Given the description of an element on the screen output the (x, y) to click on. 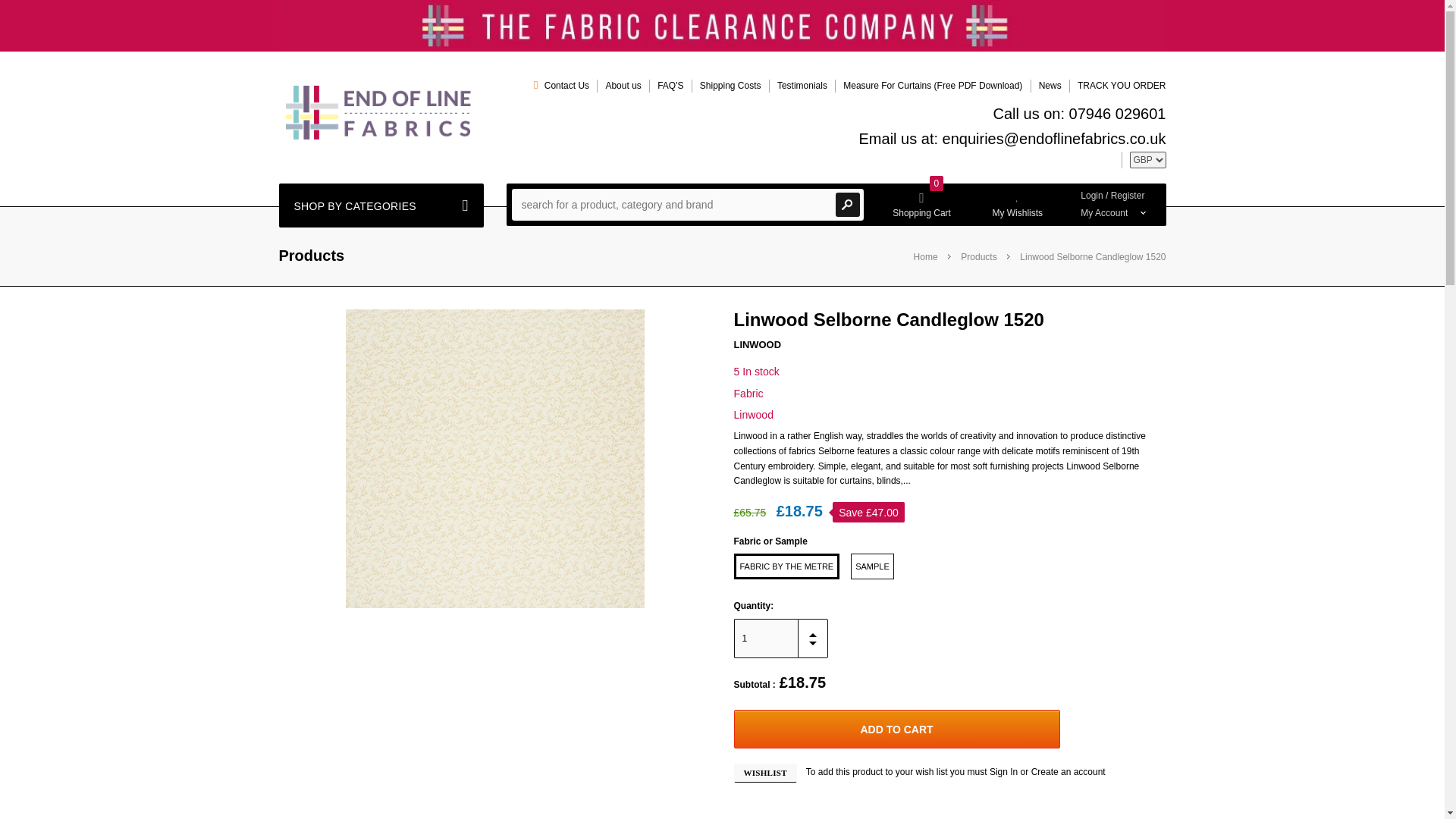
Wishlist (764, 772)
Search (847, 204)
1 (765, 638)
Add to Cart (896, 729)
